Given the description of an element on the screen output the (x, y) to click on. 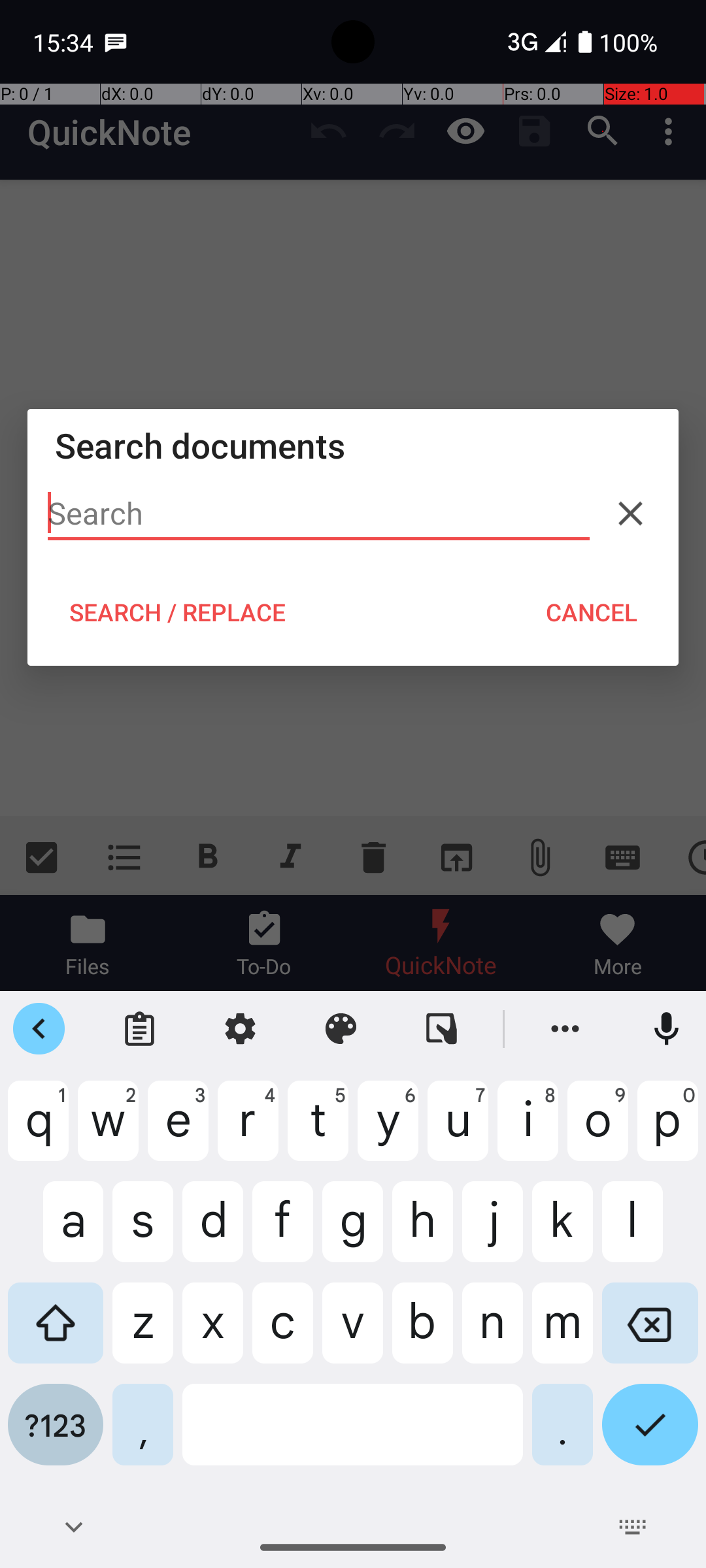
Search documents Element type: android.widget.TextView (352, 445)
SEARCH / REPLACE Element type: android.widget.Button (176, 611)
Theme settings Element type: android.widget.FrameLayout (340, 1028)
One handed mode Element type: android.widget.FrameLayout (441, 1028)
Done Element type: android.widget.FrameLayout (649, 1434)
